Given the description of an element on the screen output the (x, y) to click on. 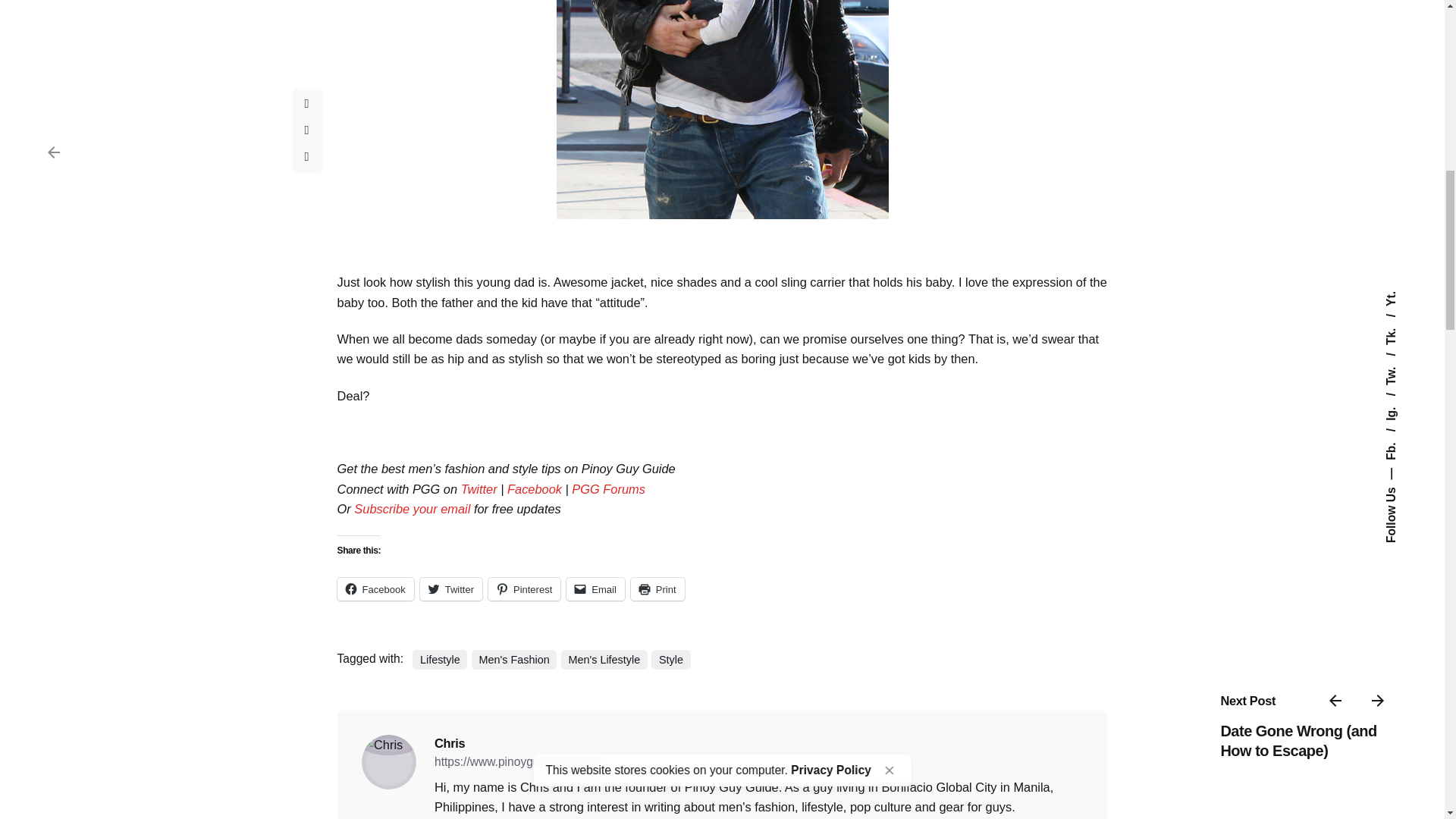
Click to print (657, 589)
Click to share on Facebook (375, 589)
Click to share on Twitter (450, 589)
Click to email a link to a friend (595, 589)
Click to share on Pinterest (523, 589)
